Given the description of an element on the screen output the (x, y) to click on. 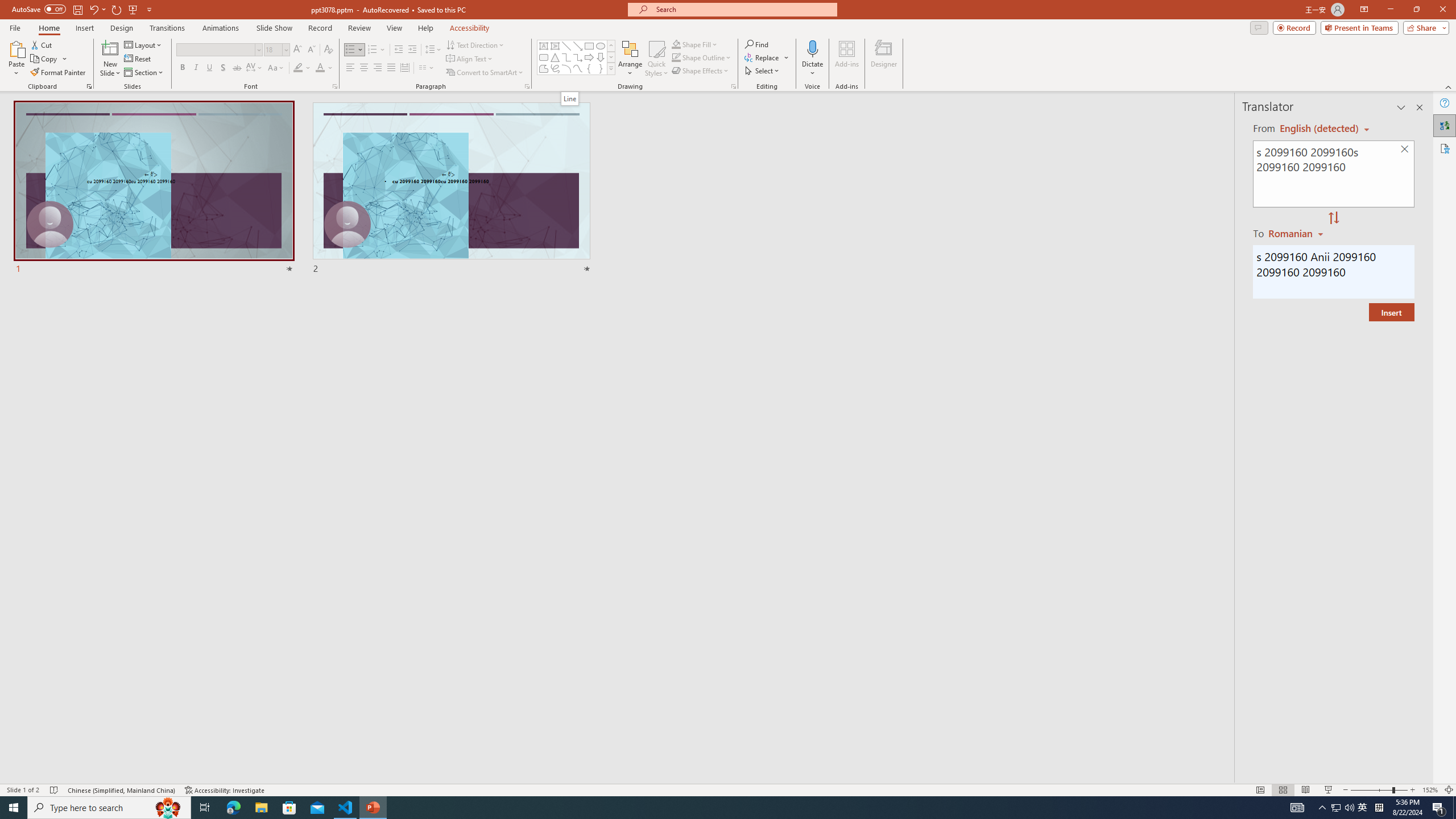
Shape Effects (700, 69)
Shapes (611, 68)
Line Arrow (577, 45)
Font... (334, 85)
Align Left (349, 67)
Text Direction (476, 44)
Center (363, 67)
